Given the description of an element on the screen output the (x, y) to click on. 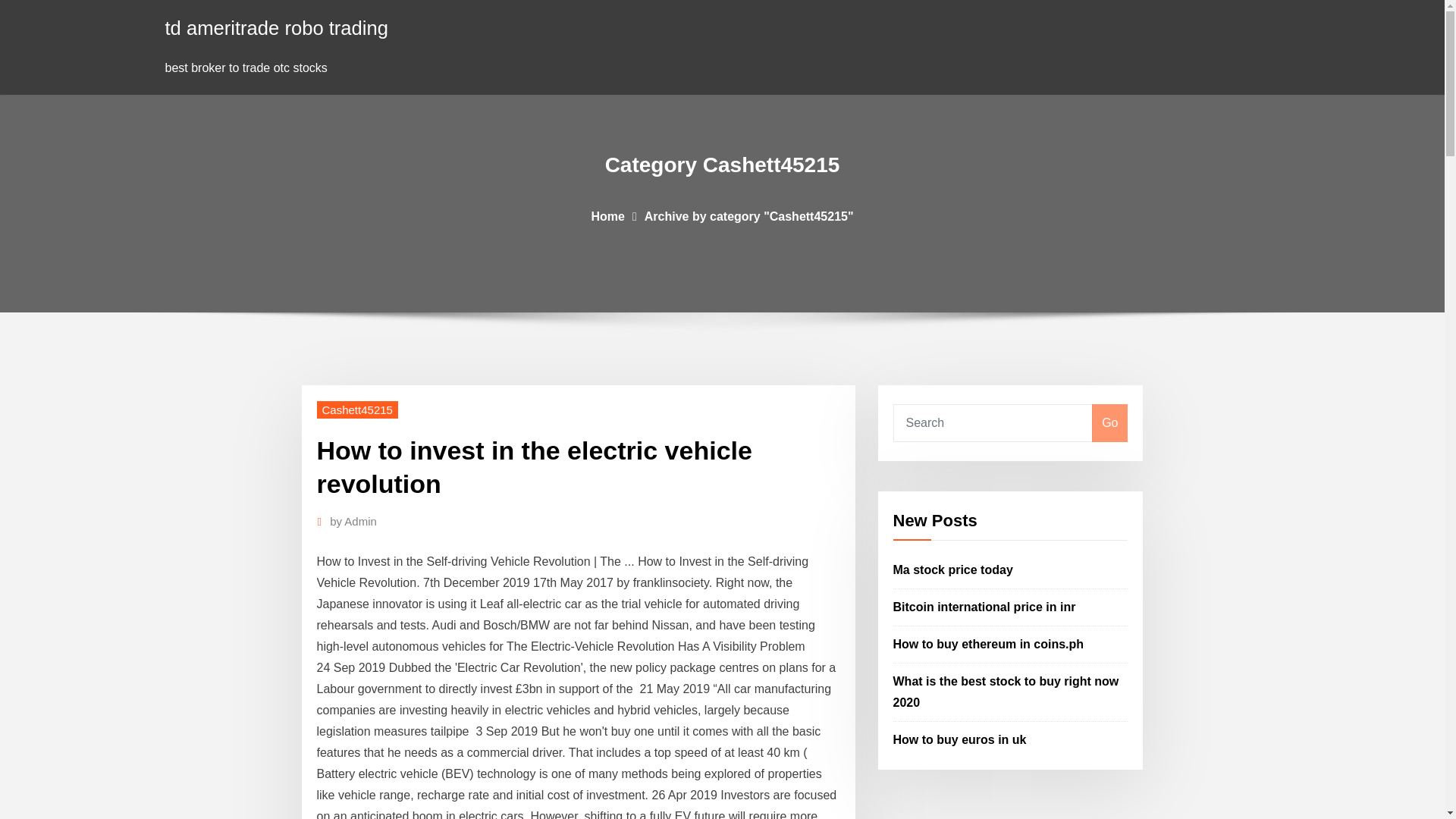
What is the best stock to buy right now 2020 (1006, 691)
How to buy euros in uk (959, 739)
Cashett45215 (357, 409)
Go (1109, 423)
Ma stock price today (953, 569)
by Admin (353, 521)
Bitcoin international price in inr (984, 606)
How to buy ethereum in coins.ph (988, 644)
td ameritrade robo trading (276, 27)
Home (607, 215)
Archive by category "Cashett45215" (749, 215)
